Given the description of an element on the screen output the (x, y) to click on. 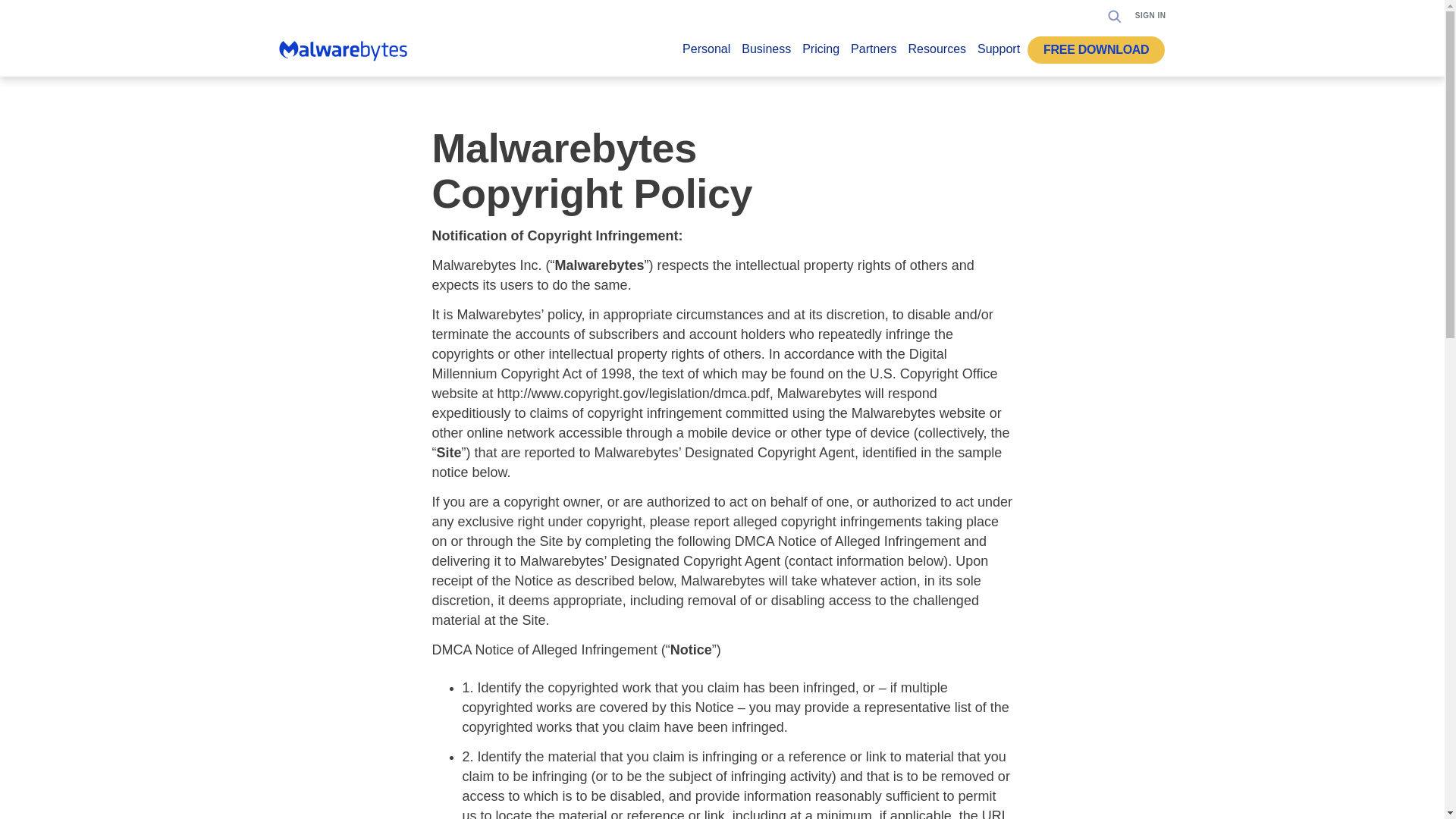
Business (765, 52)
Search (1114, 15)
SIGN IN (1150, 15)
Search (1110, 62)
Personal (706, 52)
